Given the description of an element on the screen output the (x, y) to click on. 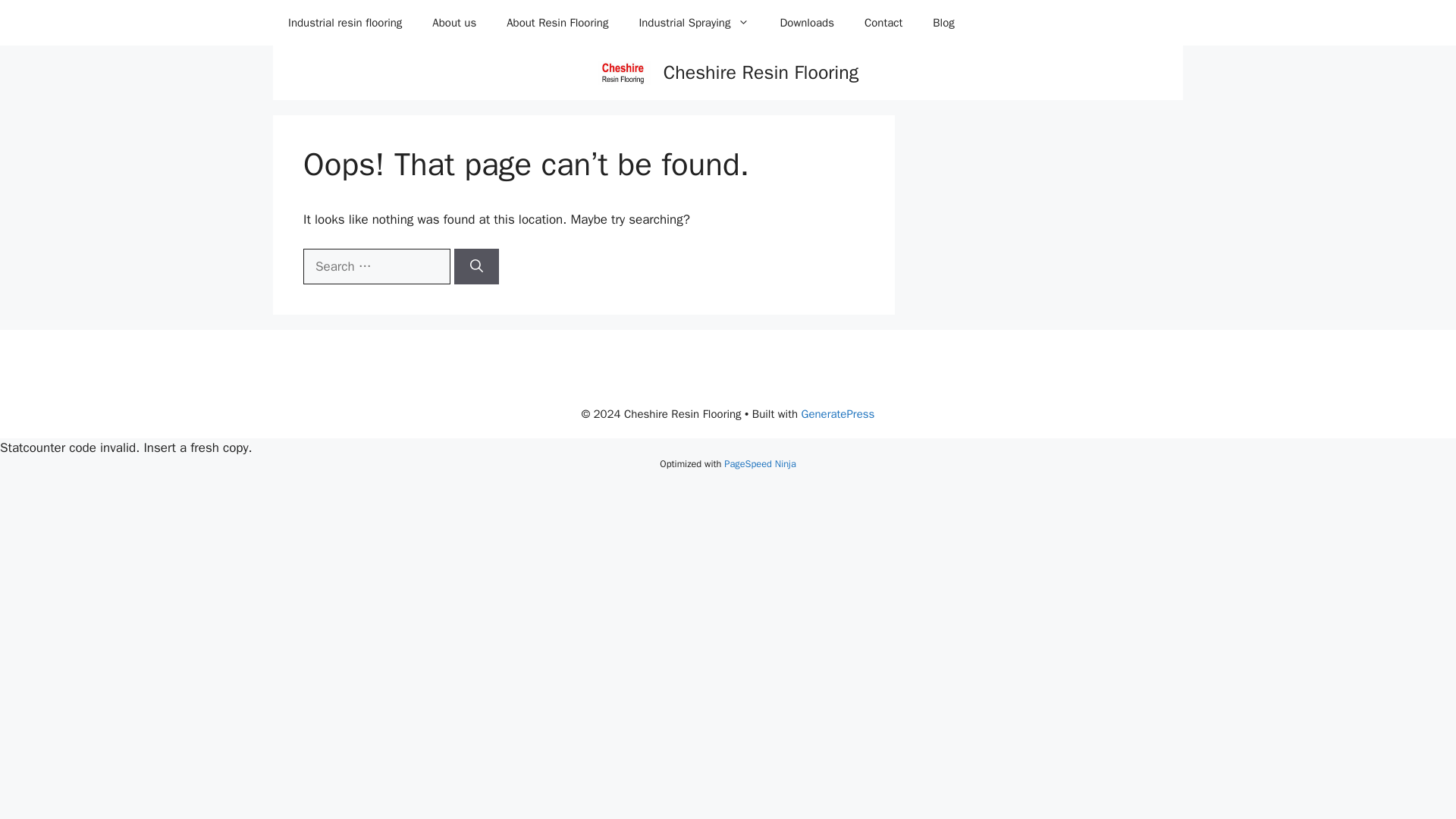
Industrial resin flooring (344, 22)
Contact (882, 22)
Search for: (375, 266)
GeneratePress (838, 413)
About Resin Flooring (557, 22)
Downloads (806, 22)
Blog (943, 22)
Cheshire Resin Flooring (761, 72)
PageSpeed Ninja (758, 463)
About us (454, 22)
